Given the description of an element on the screen output the (x, y) to click on. 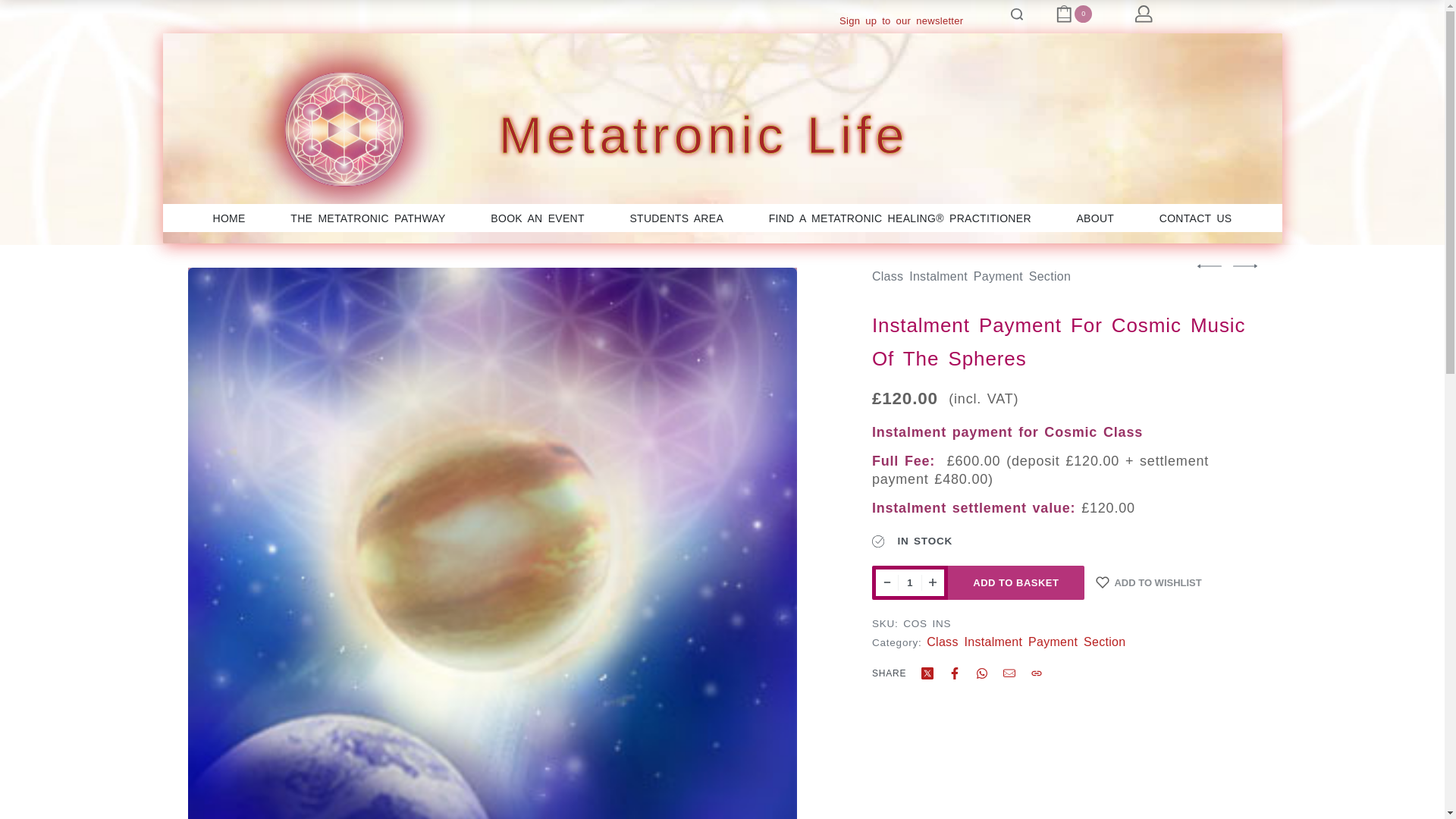
STUDENTS AREA (675, 218)
Instalment Payment for Awakening Stream (1245, 265)
BOOK AN EVENT (537, 218)
Sign up to our newsletter (901, 20)
HOME (228, 218)
0 (1073, 13)
THE METATRONIC PATHWAY (367, 218)
Add to wishlist (1149, 582)
1 (909, 582)
